Given the description of an element on the screen output the (x, y) to click on. 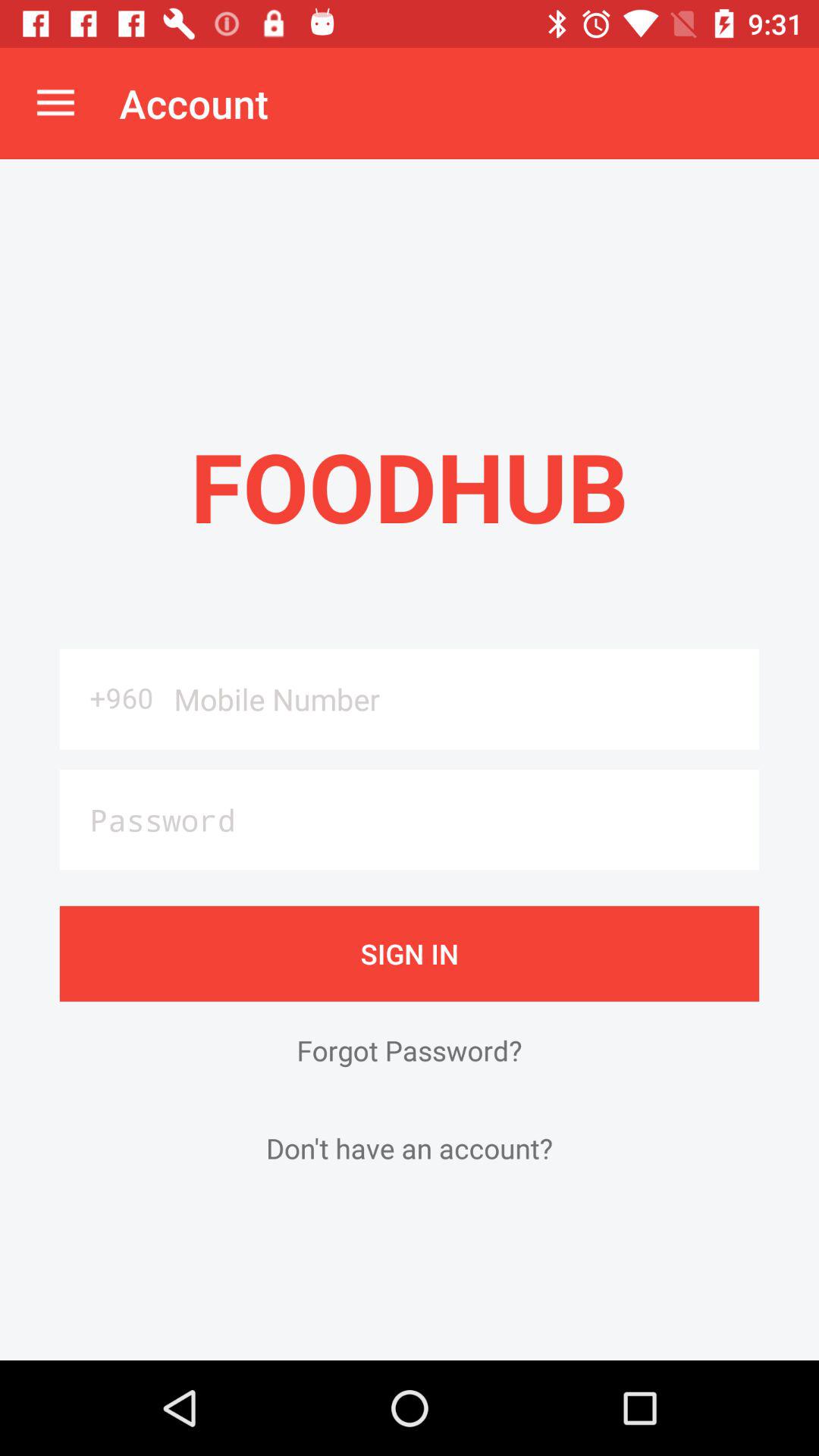
turn on the +960 icon (111, 697)
